Given the description of an element on the screen output the (x, y) to click on. 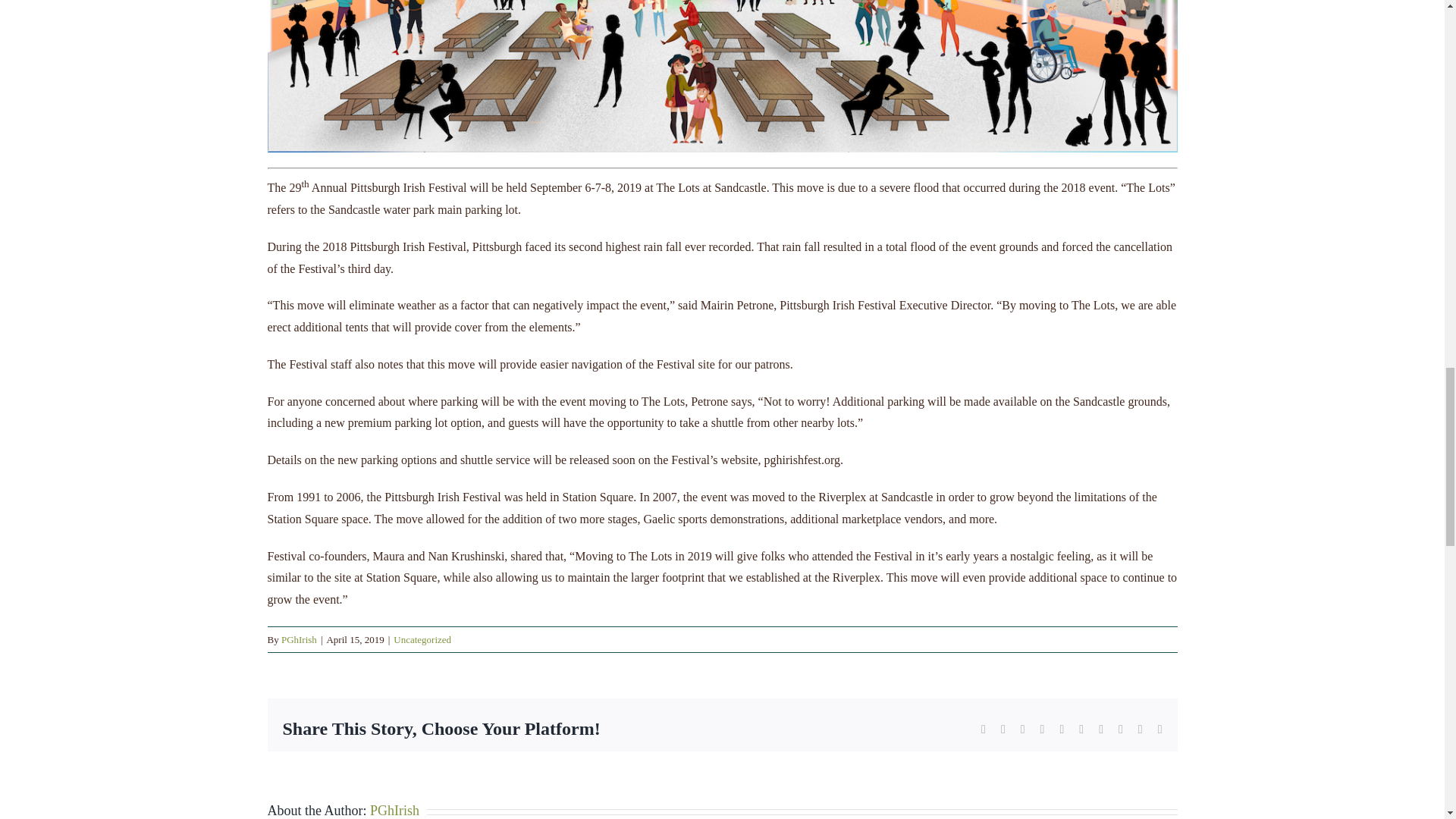
Posts by PGhIrish (299, 639)
